Given the description of an element on the screen output the (x, y) to click on. 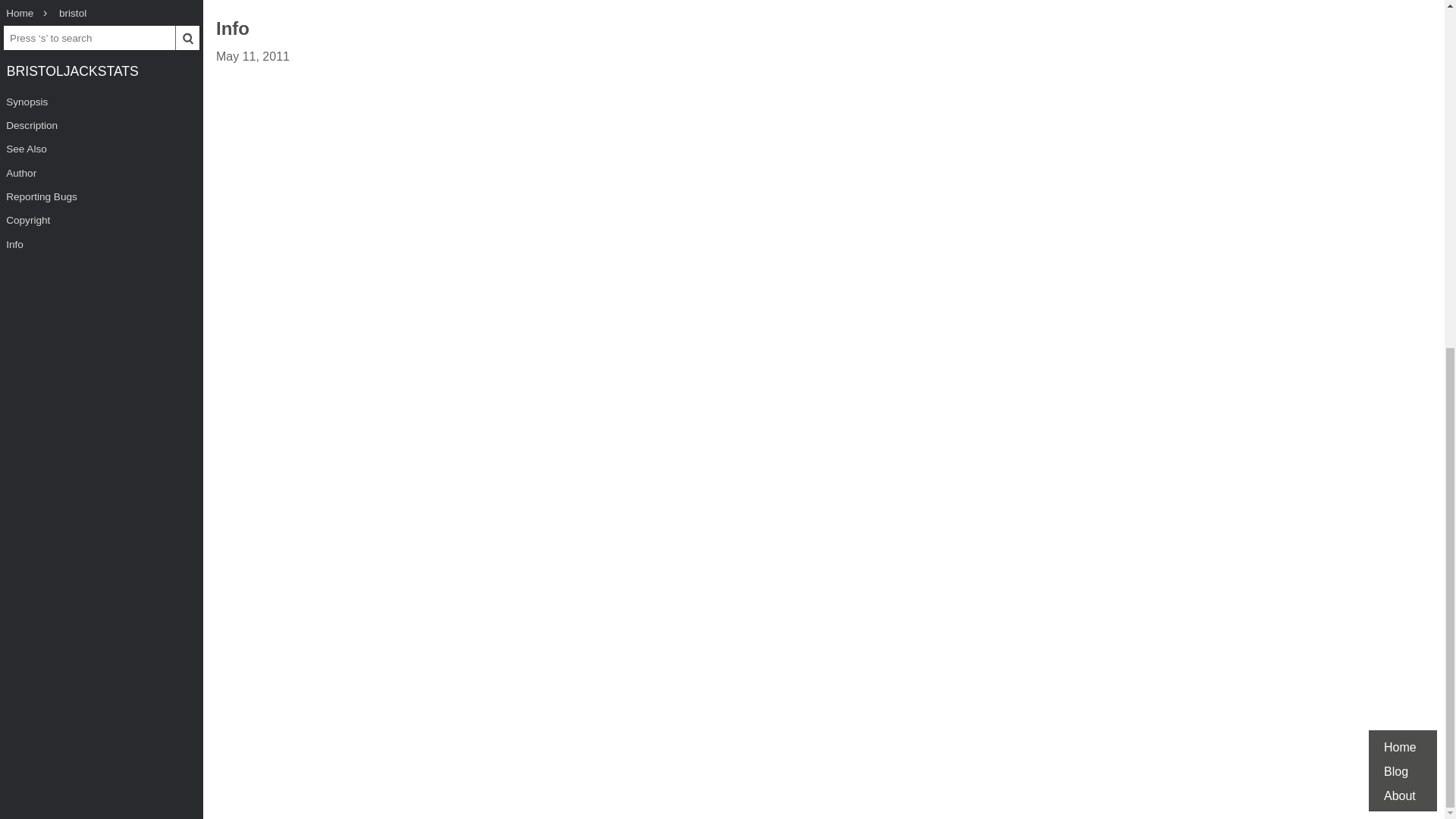
Blog (1395, 172)
Home (1400, 147)
About (1399, 196)
Info (231, 30)
